Given the description of an element on the screen output the (x, y) to click on. 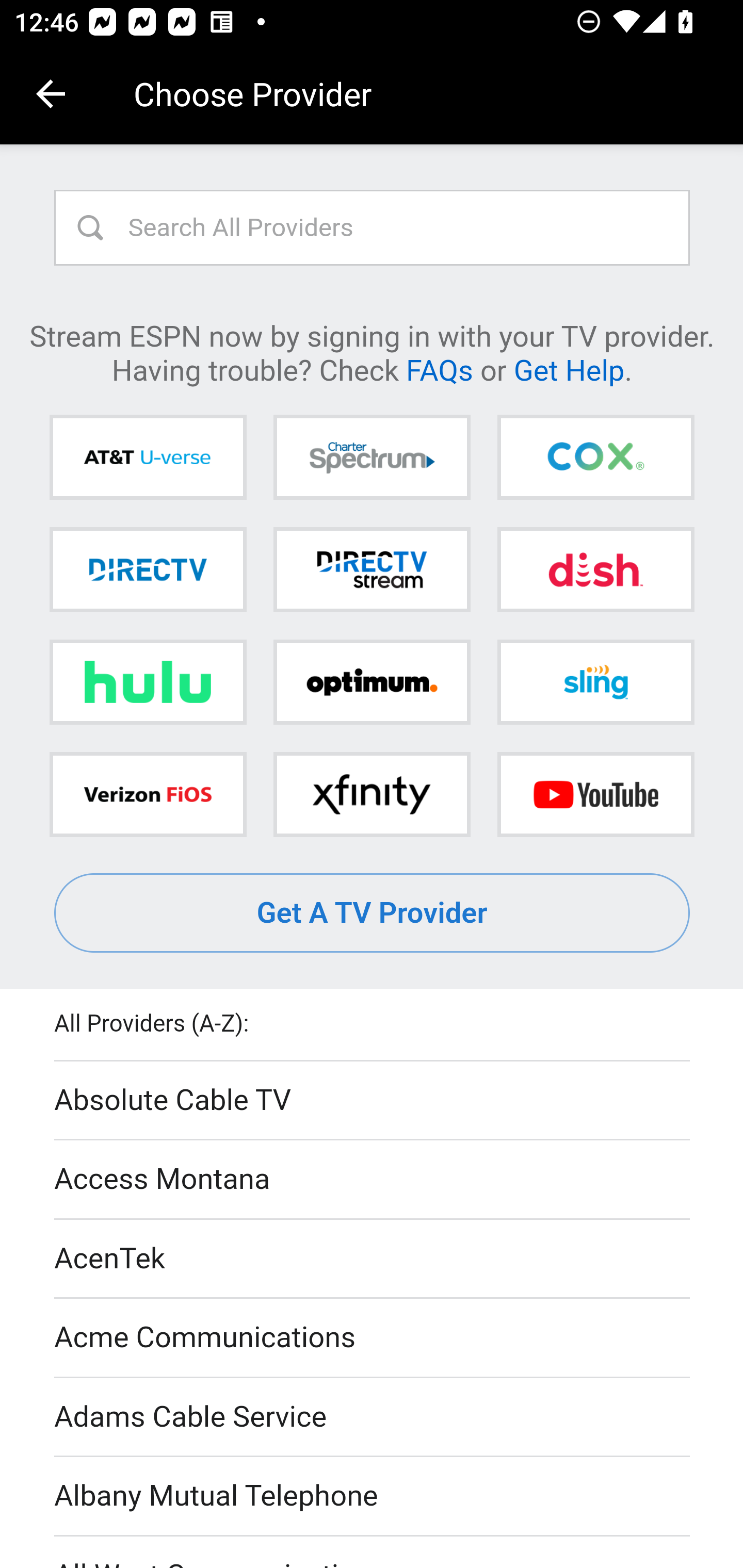
Navigate up (50, 93)
FAQs (438, 369)
Get Help (569, 369)
AT&T U-verse (147, 457)
Charter Spectrum (371, 457)
Cox (595, 457)
DIRECTV (147, 568)
DIRECTV STREAM (371, 568)
DISH (595, 568)
Hulu (147, 681)
Optimum (371, 681)
Sling TV (595, 681)
Verizon FiOS (147, 793)
Xfinity (371, 793)
YouTube TV (595, 793)
Get A TV Provider (372, 912)
Absolute Cable TV (372, 1100)
Access Montana (372, 1178)
AcenTek (372, 1258)
Acme Communications (372, 1338)
Adams Cable Service (372, 1417)
Albany Mutual Telephone (372, 1497)
